Given the description of an element on the screen output the (x, y) to click on. 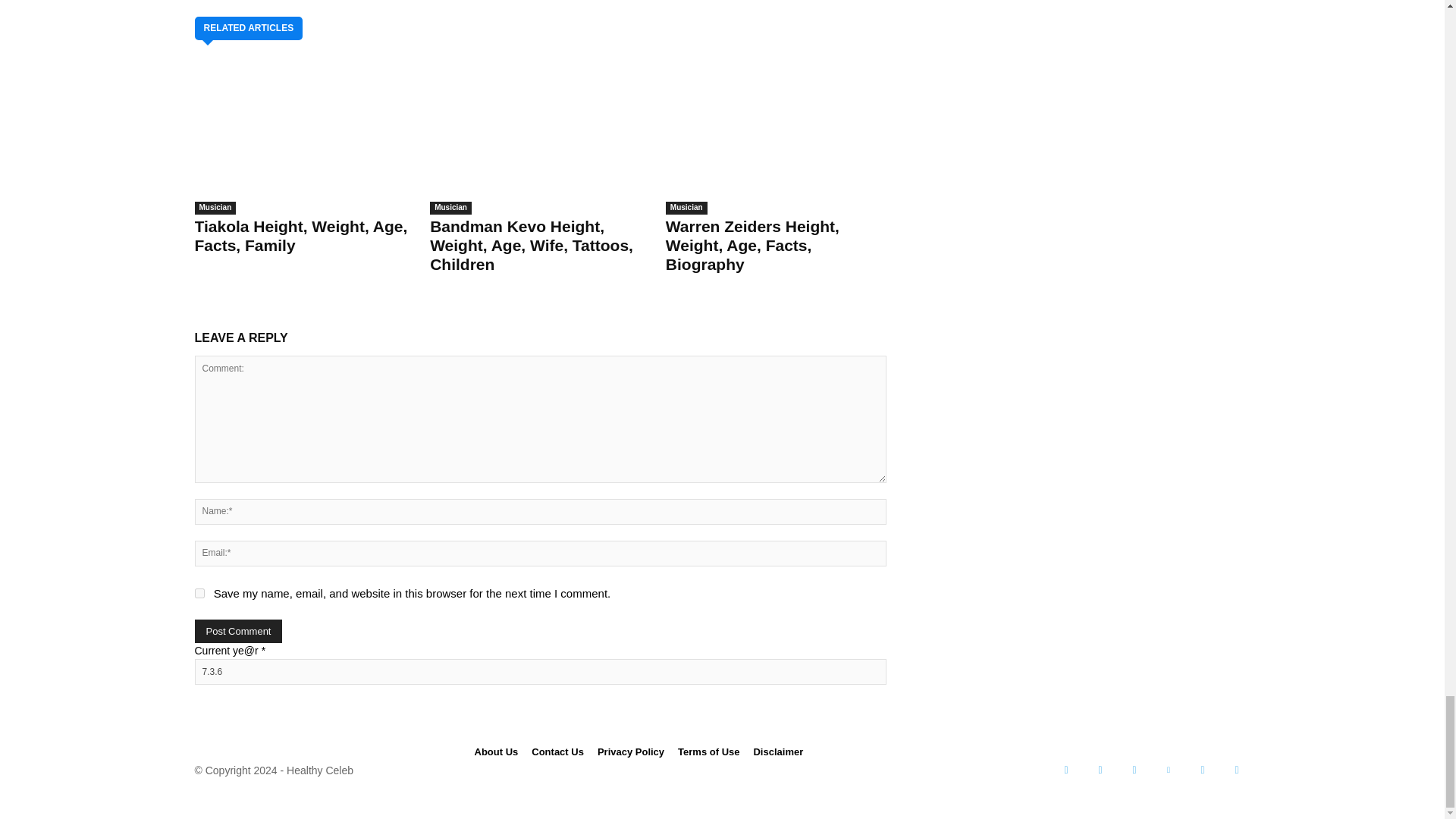
7.3.6 (539, 671)
yes (198, 593)
Post Comment (237, 630)
